Given the description of an element on the screen output the (x, y) to click on. 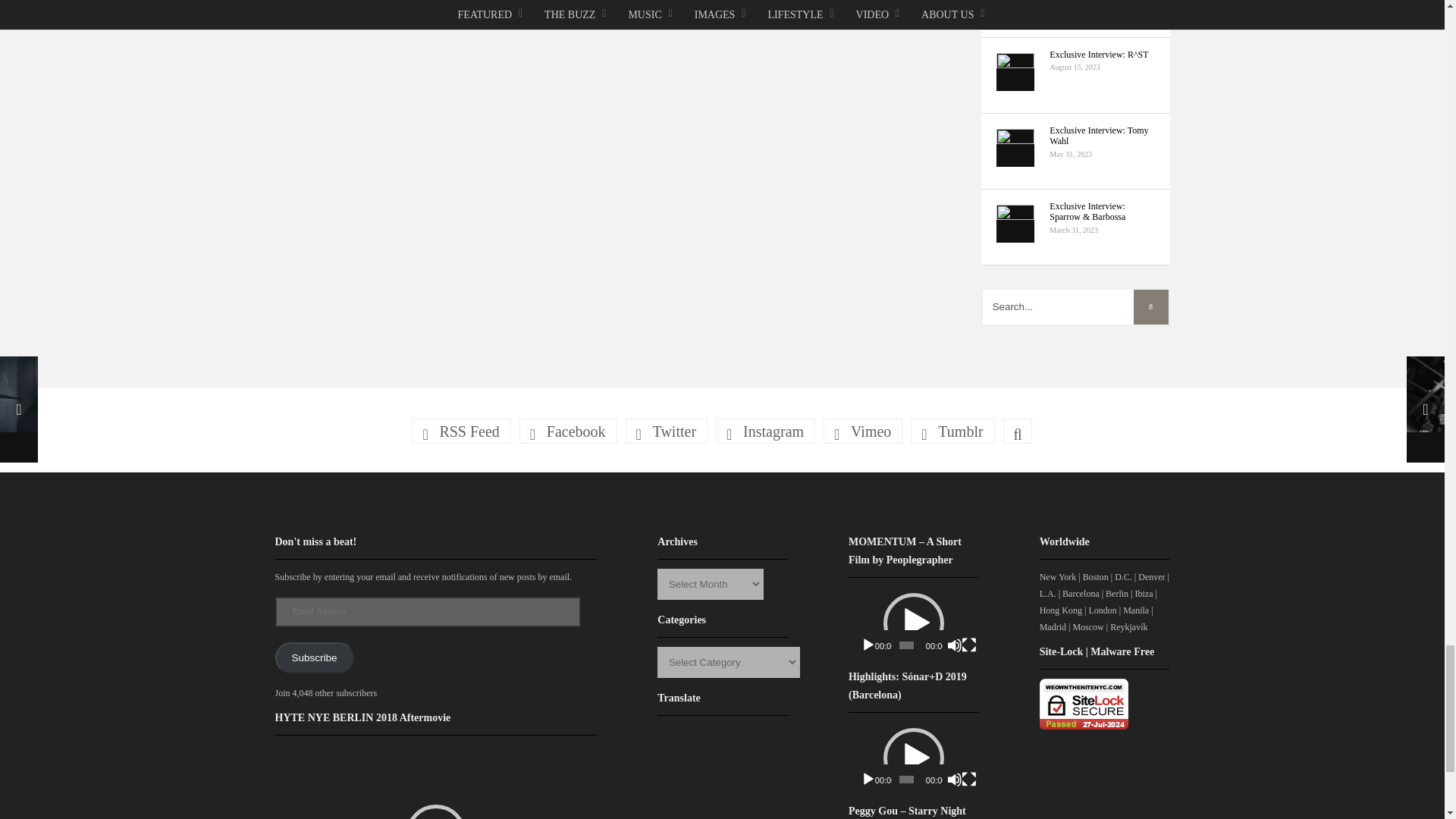
Search... (1075, 306)
